Given the description of an element on the screen output the (x, y) to click on. 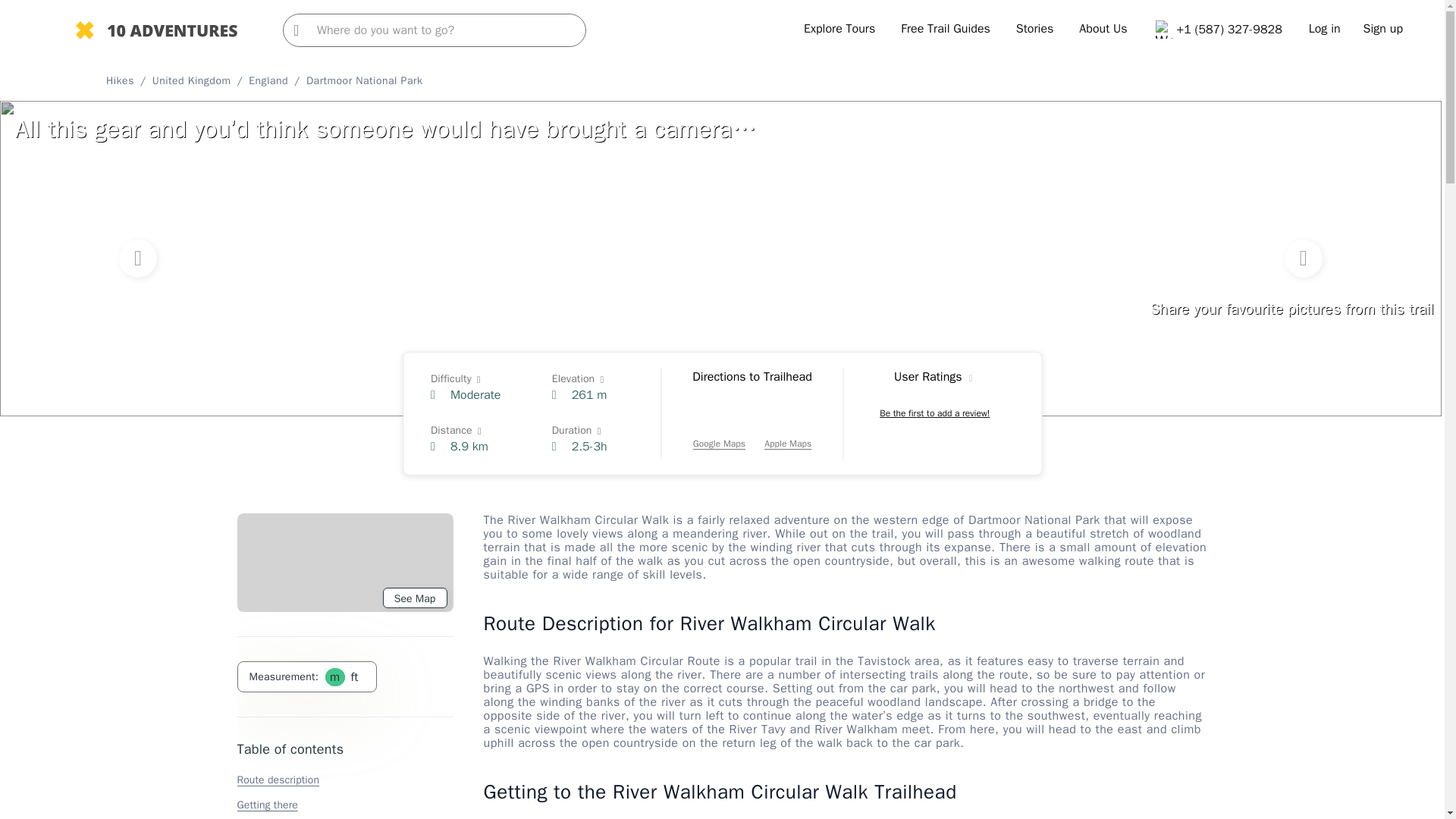
Be the first to add a review! (934, 413)
Getting there (266, 804)
Route description (276, 779)
10Adventures.com (156, 31)
Log in (1324, 28)
Dartmoor National Park (364, 80)
metric (333, 676)
Google Maps (718, 428)
See Map (413, 598)
Explore Tours (839, 28)
